Given the description of an element on the screen output the (x, y) to click on. 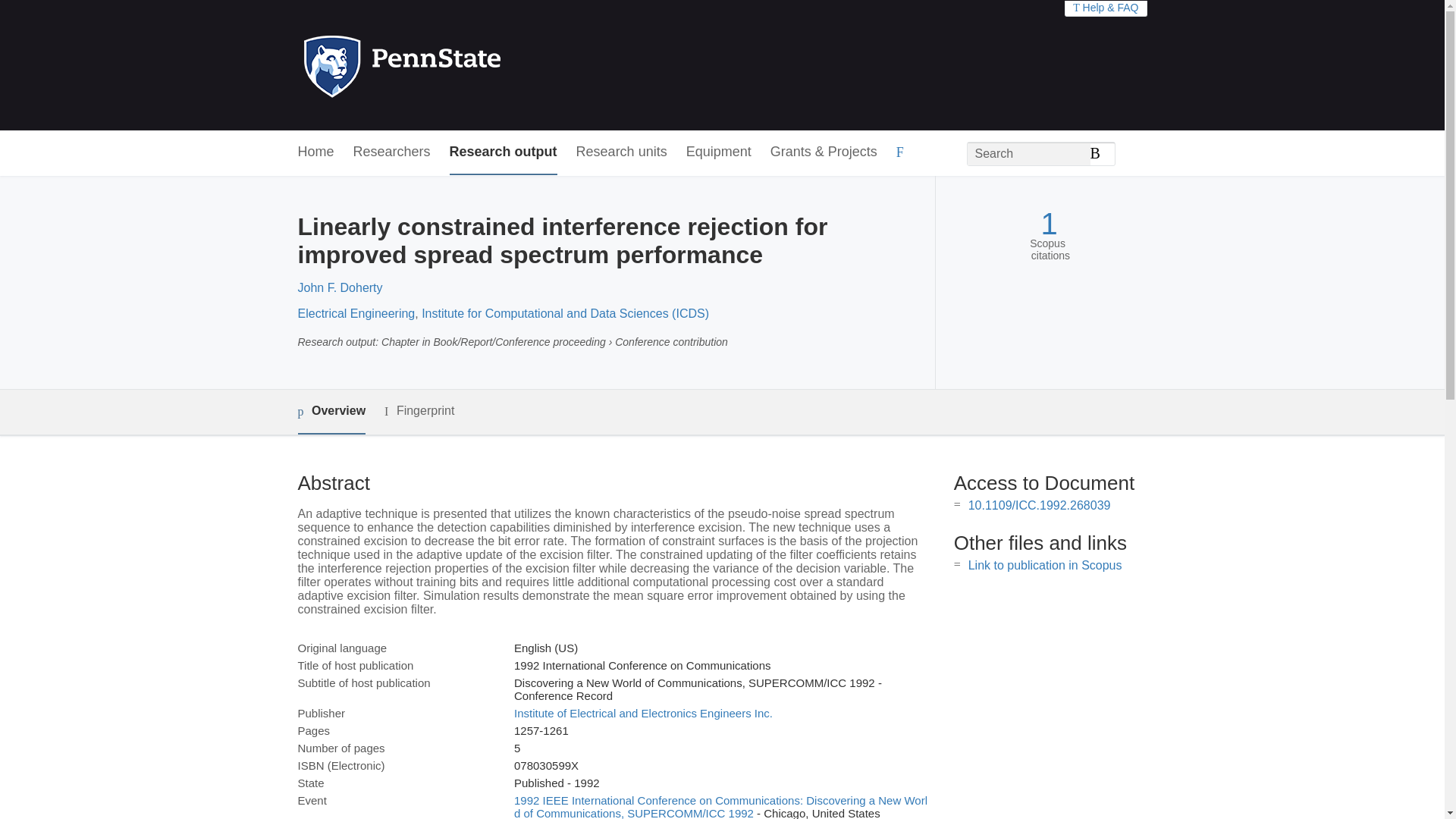
Overview (331, 411)
Research units (621, 152)
Electrical Engineering (355, 313)
Research output (503, 152)
Institute of Electrical and Electronics Engineers Inc. (643, 712)
Equipment (718, 152)
Link to publication in Scopus (1045, 564)
Researchers (391, 152)
Penn State Home (467, 65)
Fingerprint (419, 411)
